Given the description of an element on the screen output the (x, y) to click on. 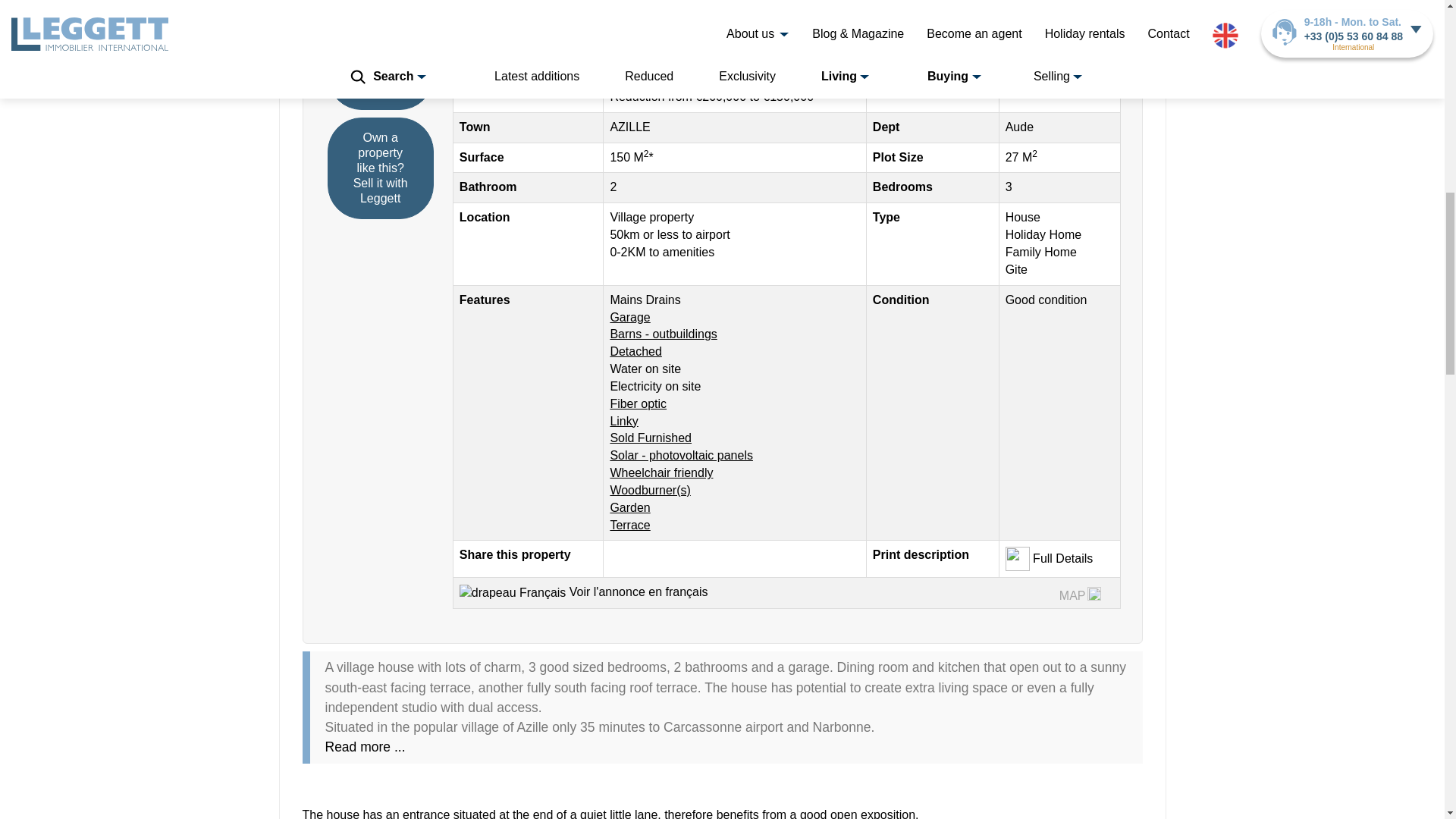
more properties in Azille (629, 126)
Locate Azille in google map (1093, 593)
